Given the description of an element on the screen output the (x, y) to click on. 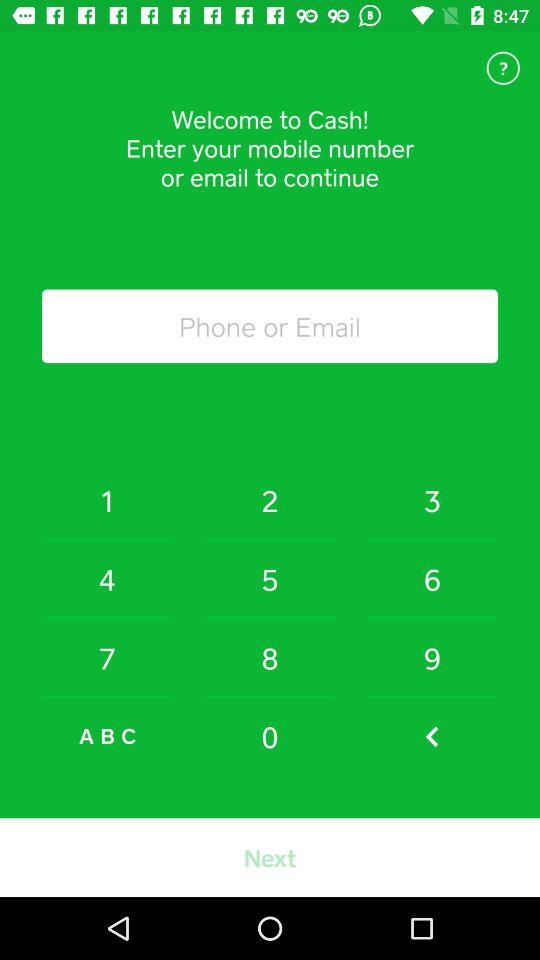
enter phone or email (270, 326)
